Given the description of an element on the screen output the (x, y) to click on. 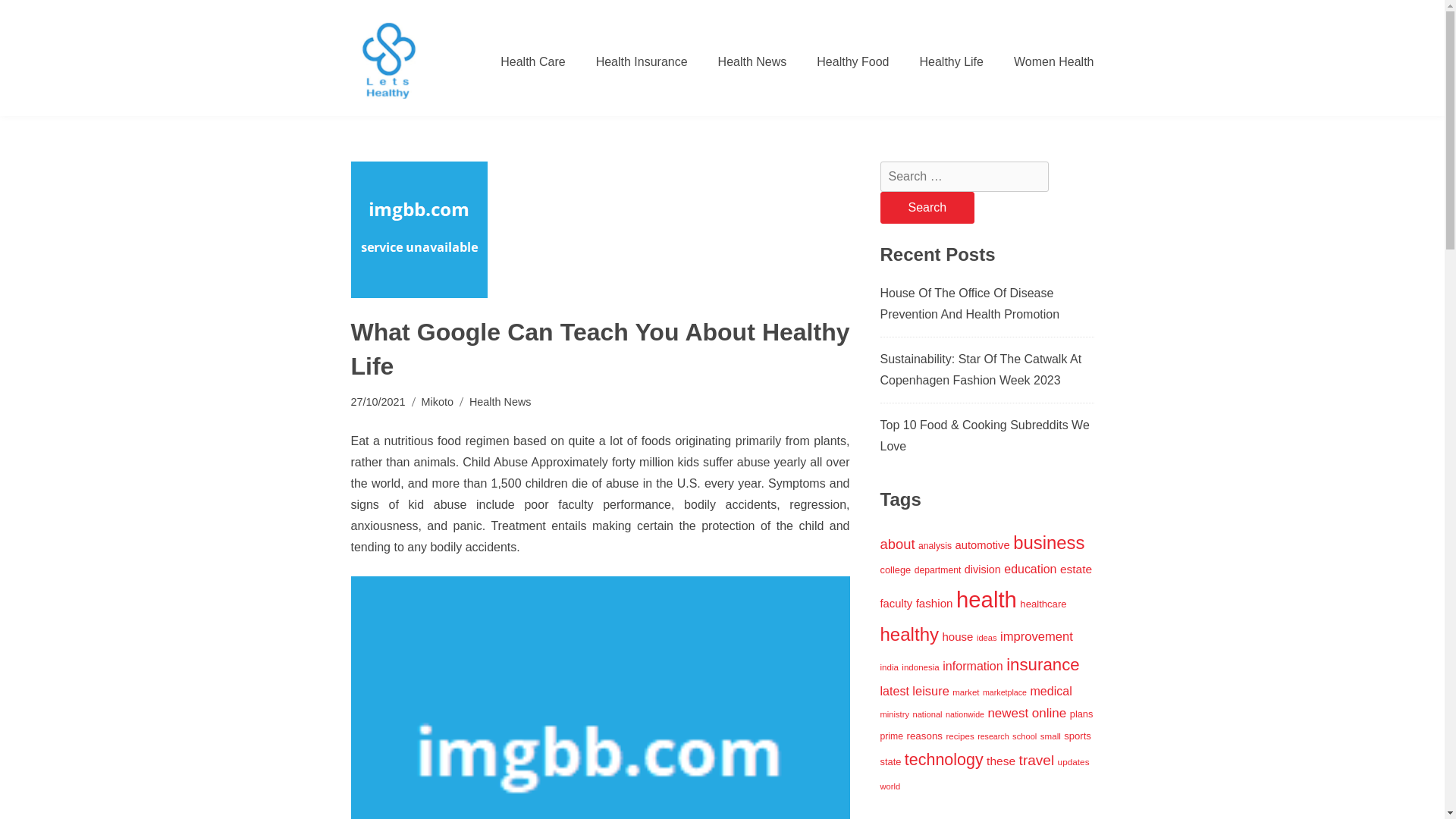
department (937, 570)
automotive (982, 544)
Healthy Life (951, 61)
Health Care (531, 61)
Search (926, 207)
about (896, 544)
Health News (499, 402)
college (895, 569)
analysis (935, 545)
Mikoto (437, 402)
Health News (752, 61)
Health Insurance (641, 61)
Search (926, 207)
Women Health (1046, 61)
